Given the description of an element on the screen output the (x, y) to click on. 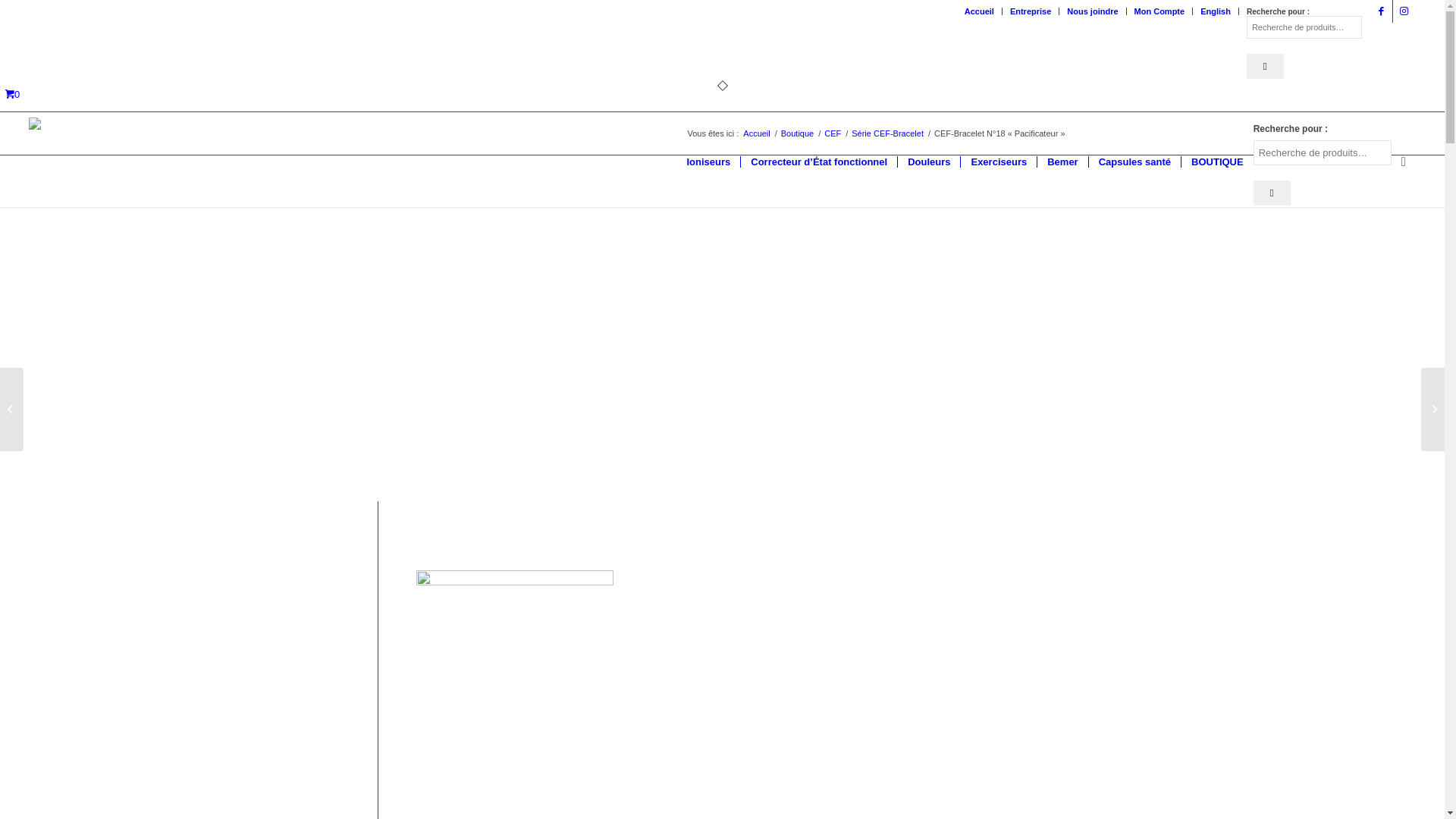
Boutique Element type: text (796, 133)
Ioniseurs Element type: text (708, 162)
CEF Element type: text (832, 133)
Accueil Element type: text (755, 133)
Instagram Element type: hover (1404, 11)
Douleurs Element type: text (928, 162)
Entreprise Element type: text (1030, 11)
logo-AquaO-2 Element type: hover (49, 162)
Mon Compte Element type: text (1159, 11)
Facebook Element type: hover (1381, 11)
Nous joindre Element type: text (1091, 11)
0 Element type: text (12, 94)
logo-AquaO-2 Element type: hover (49, 124)
Accueil Element type: text (979, 11)
Bemer Element type: text (1061, 162)
BOUTIQUE Element type: text (1216, 162)
Exerciseurs Element type: text (998, 162)
English Element type: text (1215, 11)
